Given the description of an element on the screen output the (x, y) to click on. 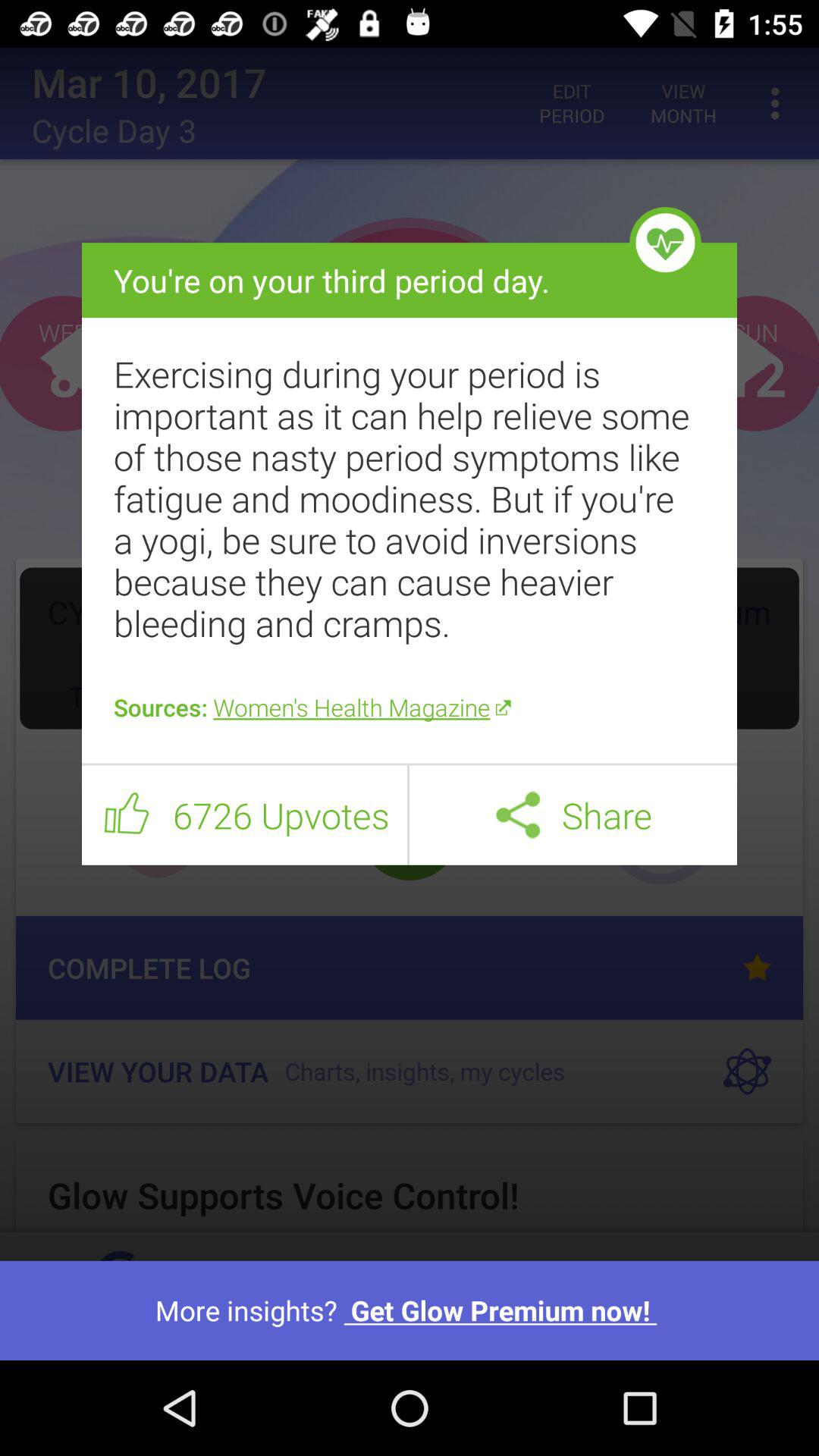
choose the more insights get item (409, 1310)
